Given the description of an element on the screen output the (x, y) to click on. 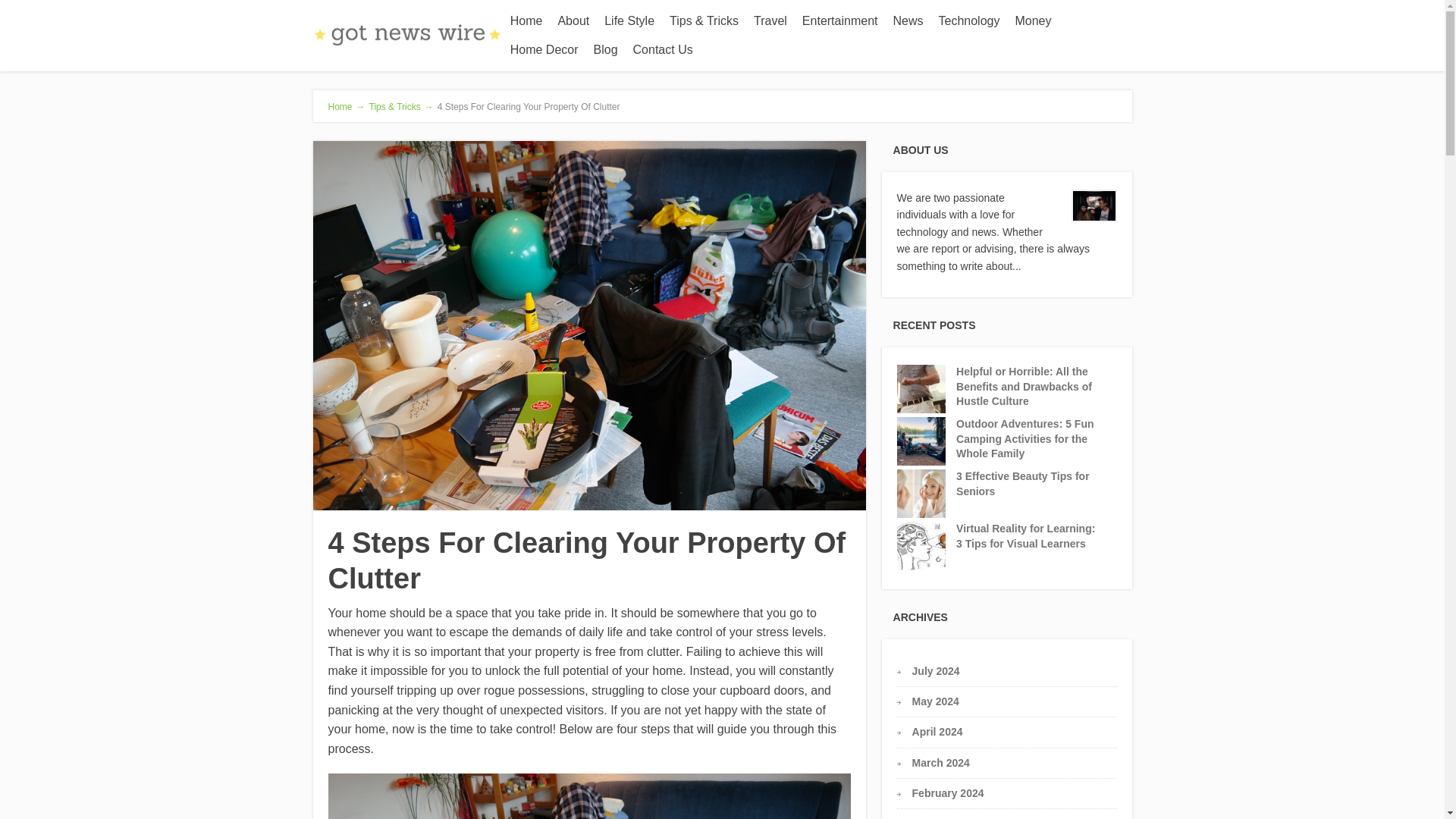
Entertainment (839, 21)
News (907, 21)
Travel (769, 21)
About (573, 21)
Blog (606, 50)
Contact Us (663, 50)
Home Decor (544, 50)
Technology (968, 21)
Money (1032, 21)
